Given the description of an element on the screen output the (x, y) to click on. 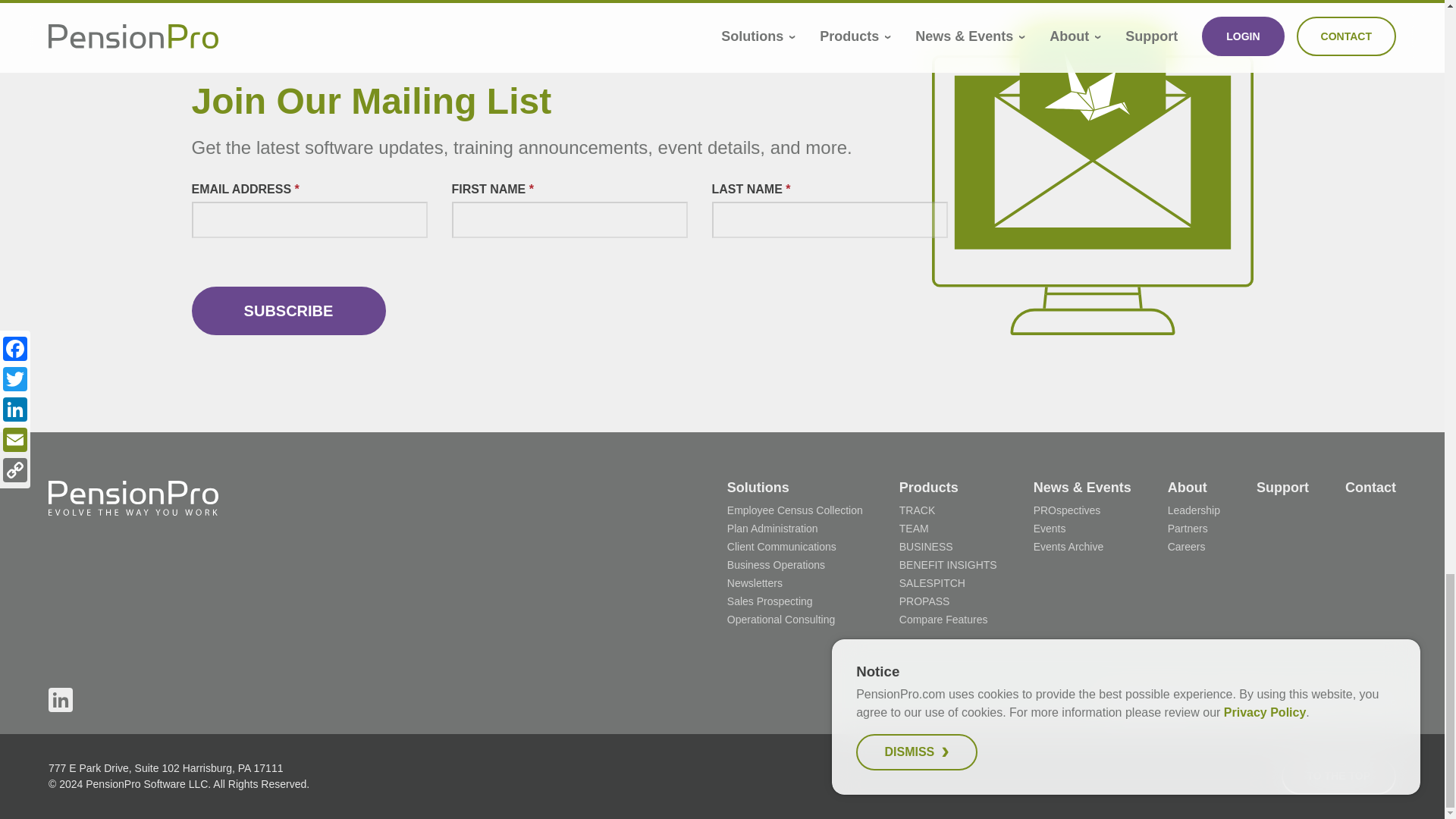
Subscribe (287, 310)
